Given the description of an element on the screen output the (x, y) to click on. 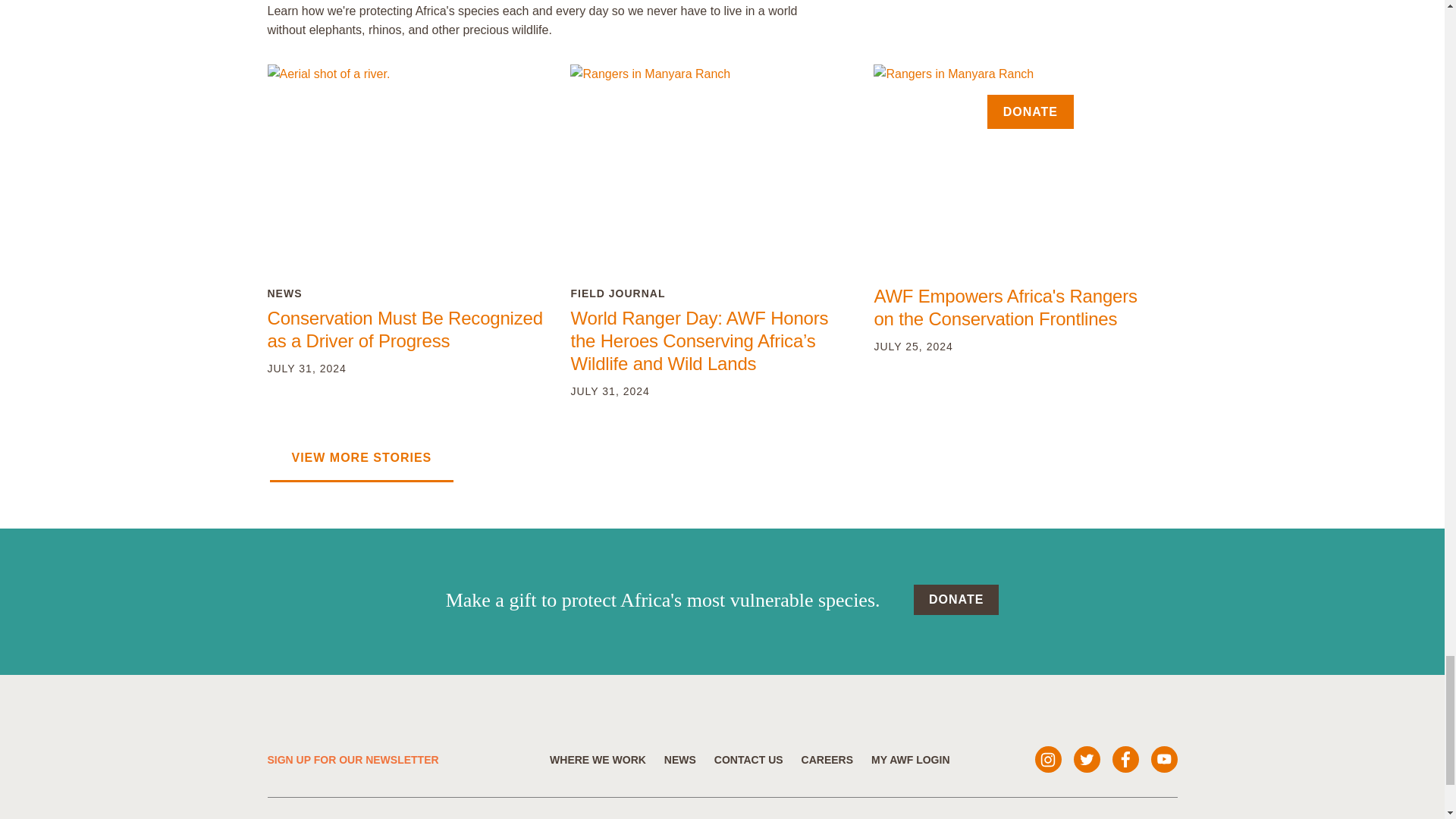
Donate (956, 599)
